Given the description of an element on the screen output the (x, y) to click on. 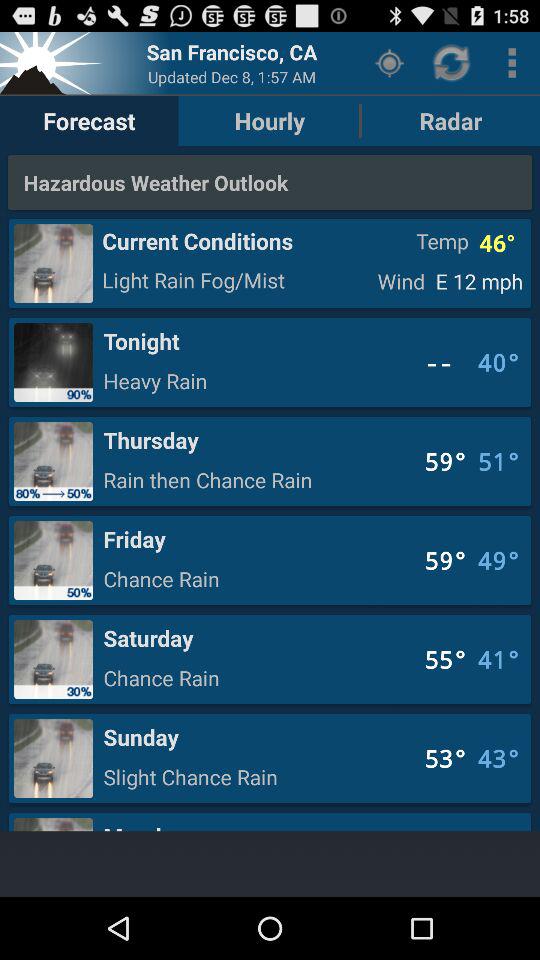
press the button to the right of the hourly button (389, 62)
